Given the description of an element on the screen output the (x, y) to click on. 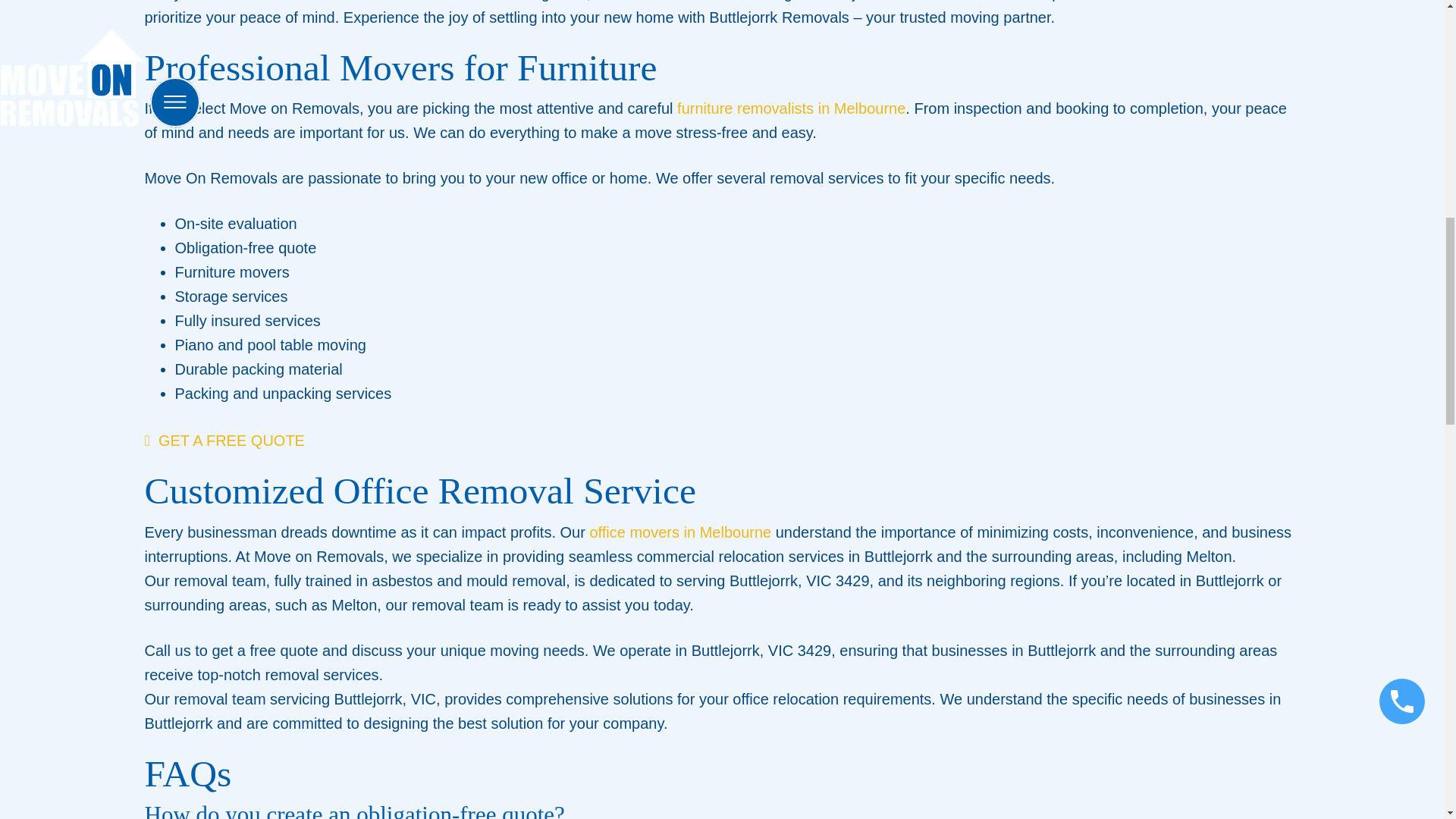
furniture removalists in Melbourne (791, 108)
  GET A FREE QUOTE (224, 440)
office movers in Melbourne (680, 532)
